Given the description of an element on the screen output the (x, y) to click on. 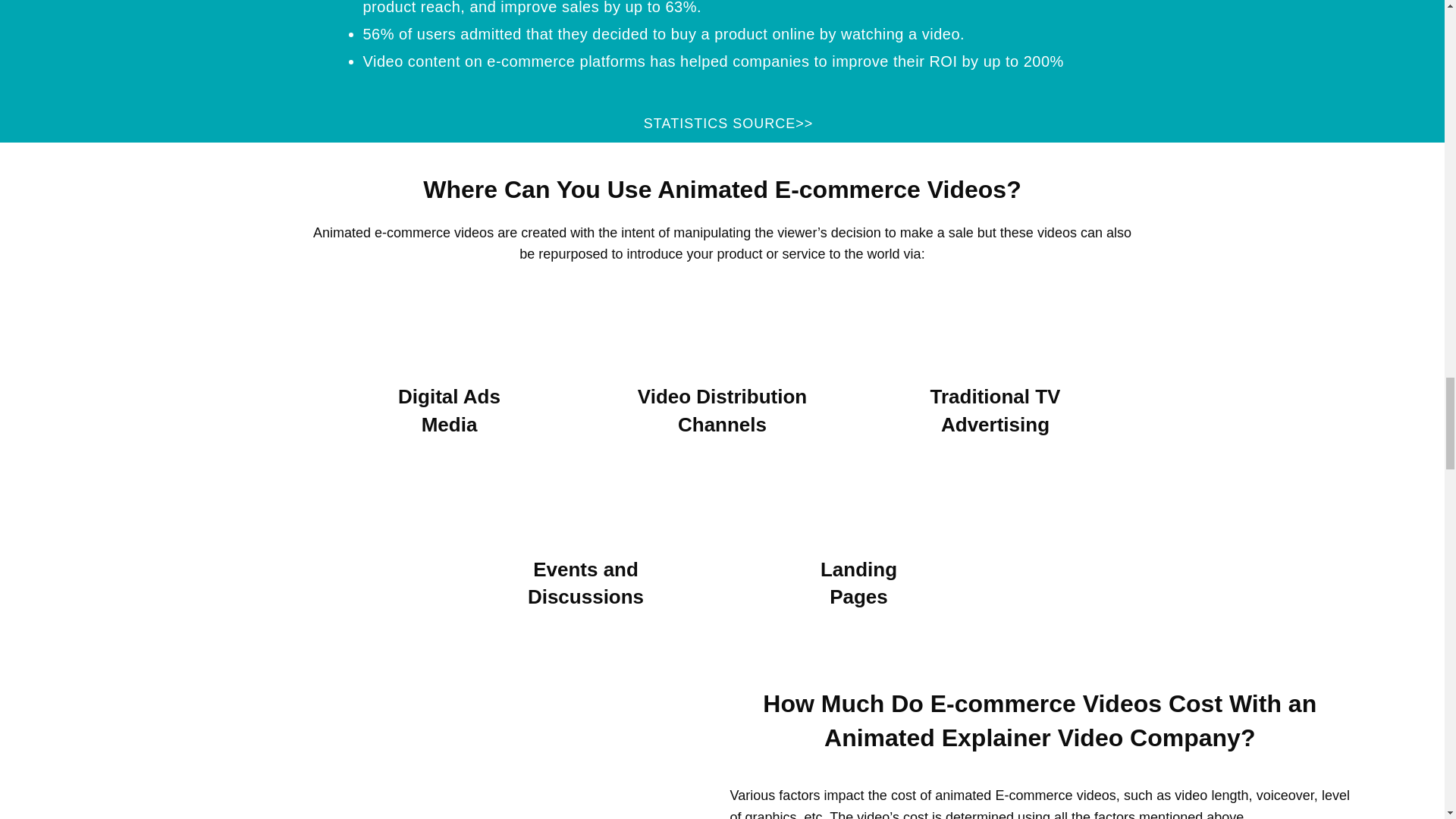
Digital Ads Media (448, 325)
Video Distribution Channels-01 (721, 325)
